Given the description of an element on the screen output the (x, y) to click on. 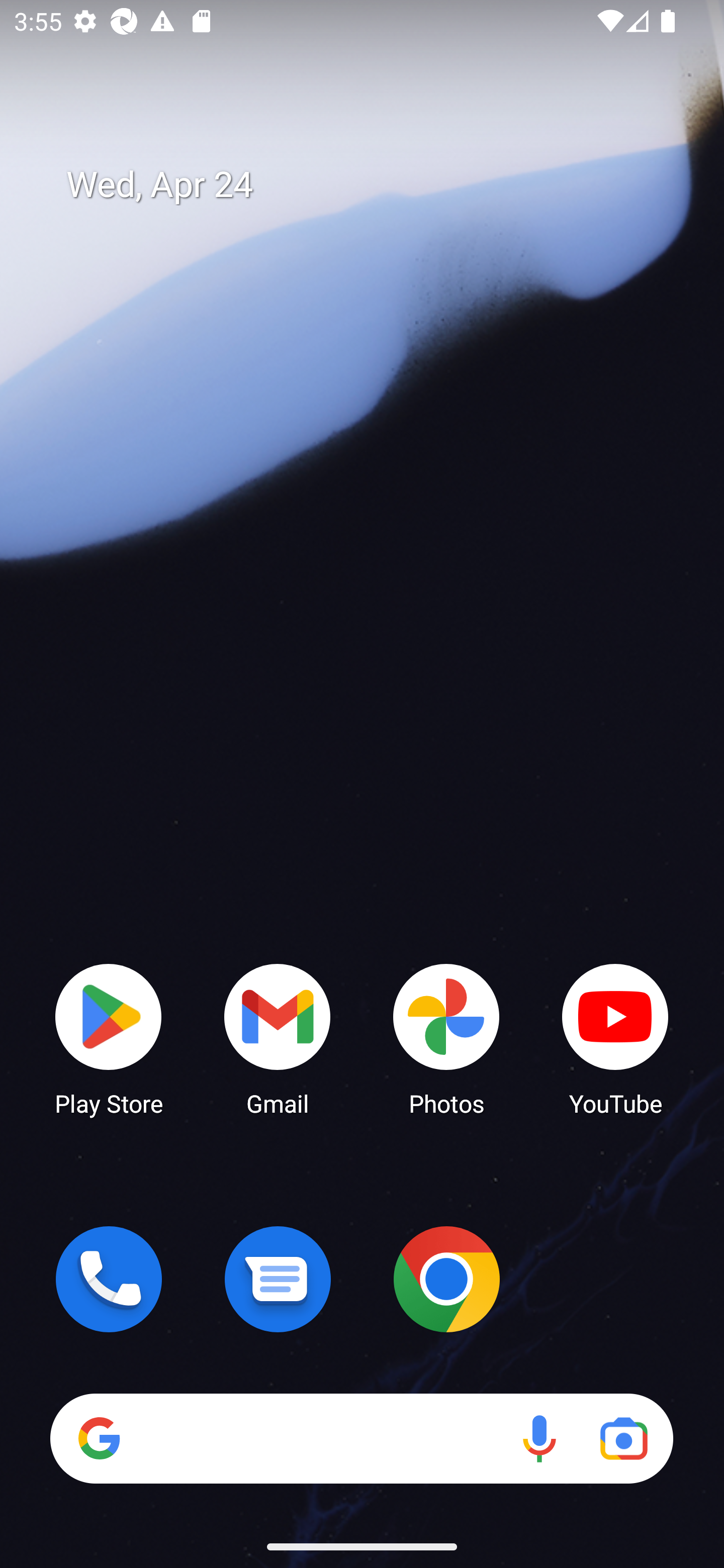
Wed, Apr 24 (375, 184)
Play Store (108, 1038)
Gmail (277, 1038)
Photos (445, 1038)
YouTube (615, 1038)
Phone (108, 1279)
Messages (277, 1279)
Chrome (446, 1279)
Search Voice search Google Lens (361, 1438)
Voice search (539, 1438)
Google Lens (623, 1438)
